Given the description of an element on the screen output the (x, y) to click on. 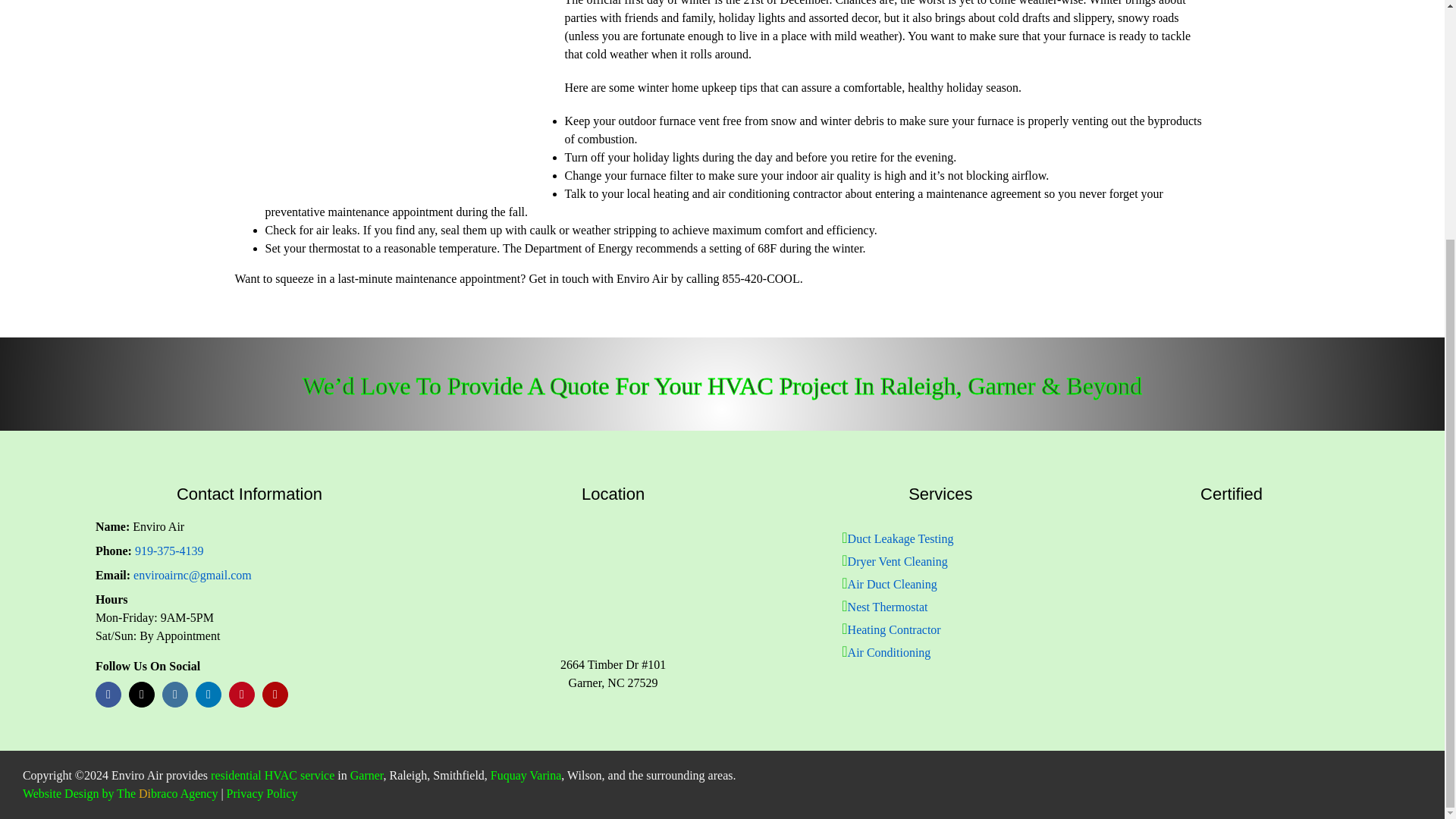
Yelp (275, 694)
Pinterest (241, 694)
Indoor Air Quality Certification (1230, 552)
LinkedIn (208, 694)
EPA Section 608 Certification (1153, 552)
Facebook (108, 694)
X (141, 694)
Winter Hvac Upkeep 3 (393, 99)
Instagram (174, 694)
